Given the description of an element on the screen output the (x, y) to click on. 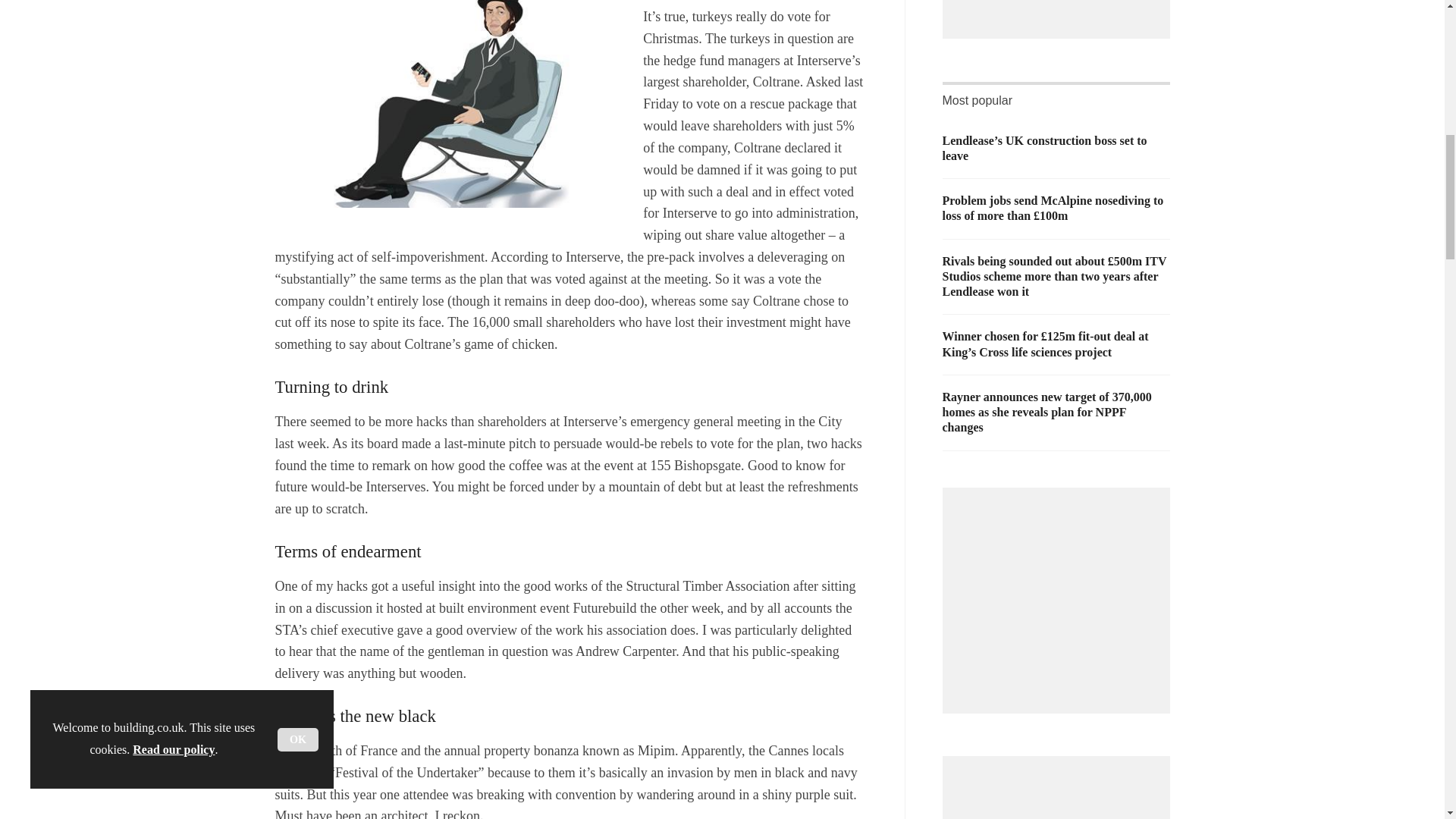
3rd party ad content (1059, 592)
3rd party ad content (1059, 792)
3rd party ad content (1059, 6)
